Given the description of an element on the screen output the (x, y) to click on. 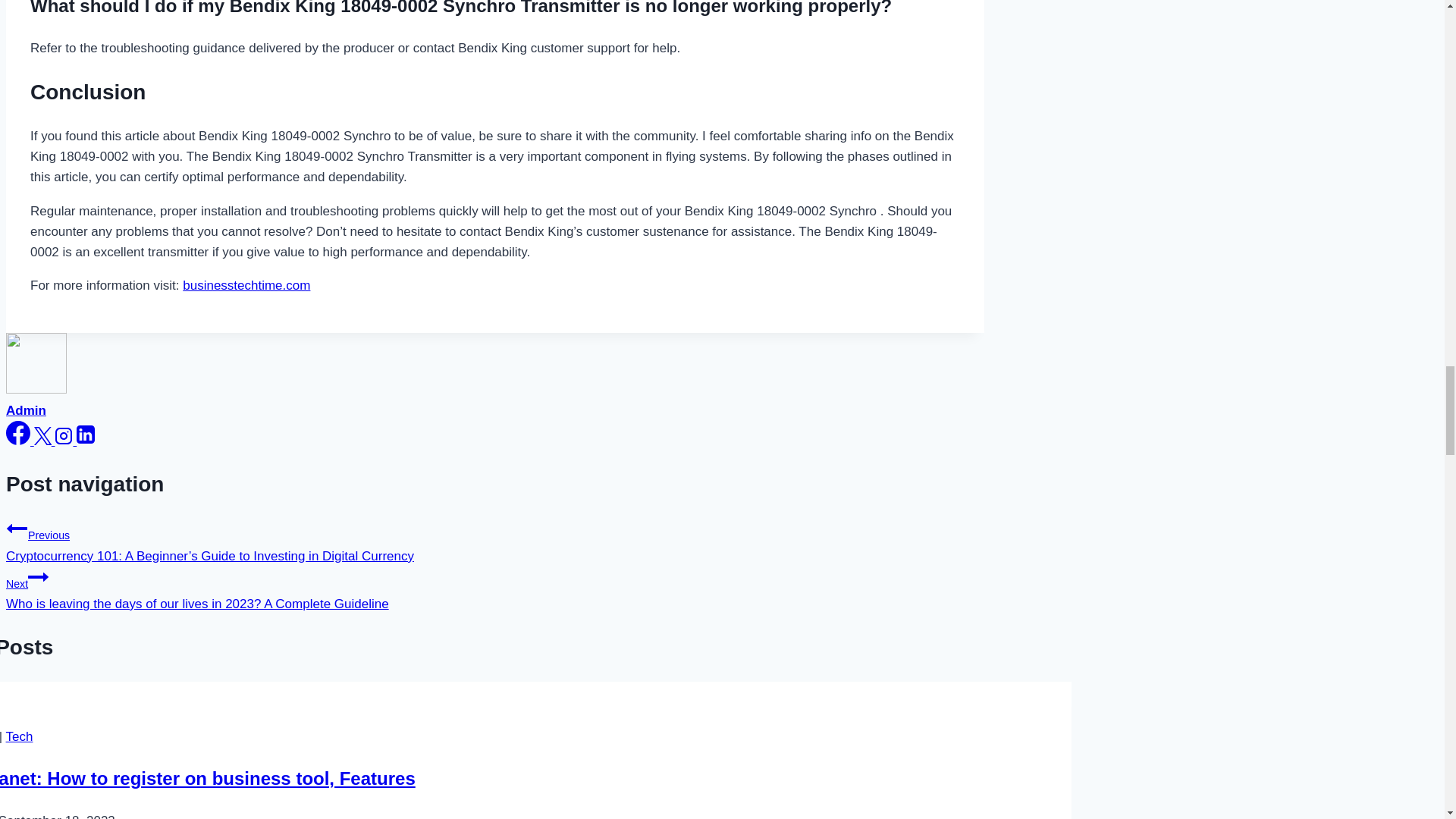
Follow Admin on Linkedin (85, 440)
Tech (19, 736)
Admin (25, 410)
Facebook (17, 432)
Previous (16, 527)
X (41, 435)
Instagram (63, 435)
Linkedin (85, 440)
Instagram (66, 440)
Continue (37, 577)
Facebook (19, 440)
businesstechtime.com (246, 285)
Follow Admin on Instagram (66, 440)
Follow Admin on Facebook (19, 440)
